Given the description of an element on the screen output the (x, y) to click on. 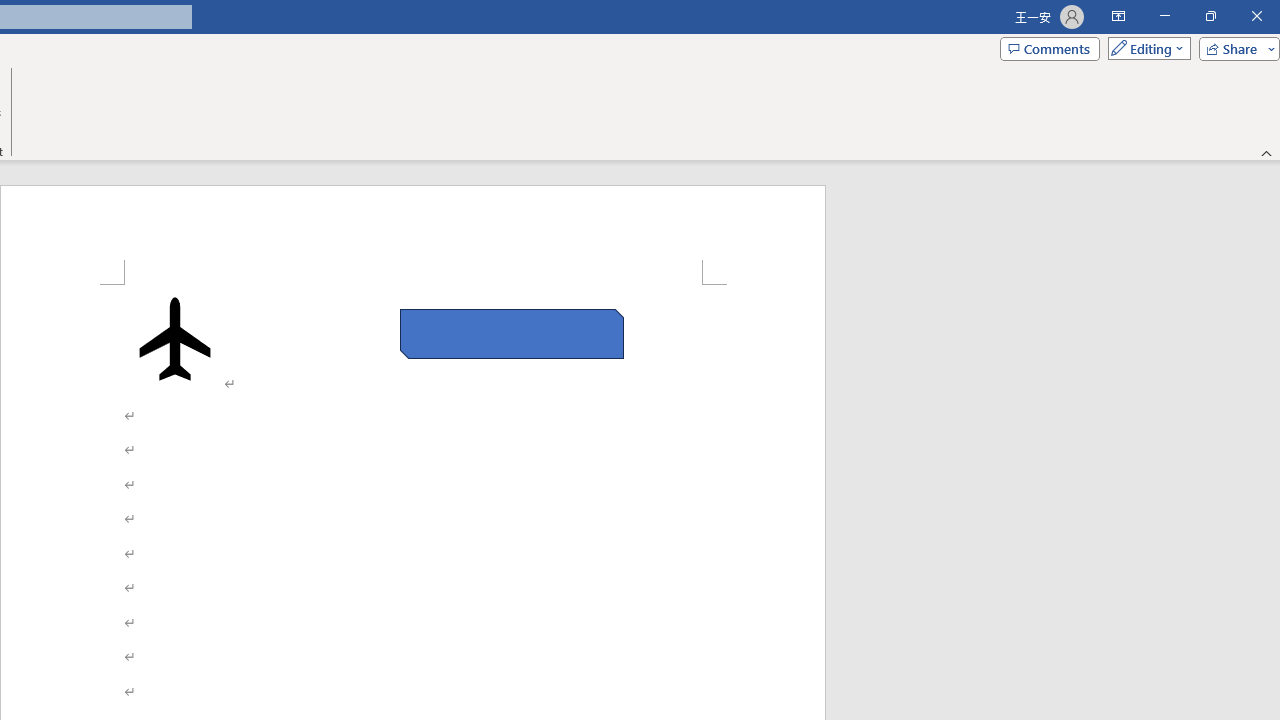
Restore Down (1210, 16)
Minimize (1164, 16)
Collapse the Ribbon (1267, 152)
Airplane with solid fill (175, 338)
Rectangle: Diagonal Corners Snipped 2 (511, 333)
Editing (1144, 47)
Comments (1049, 48)
Share (1235, 48)
Close (1256, 16)
Ribbon Display Options (1118, 16)
